Given the description of an element on the screen output the (x, y) to click on. 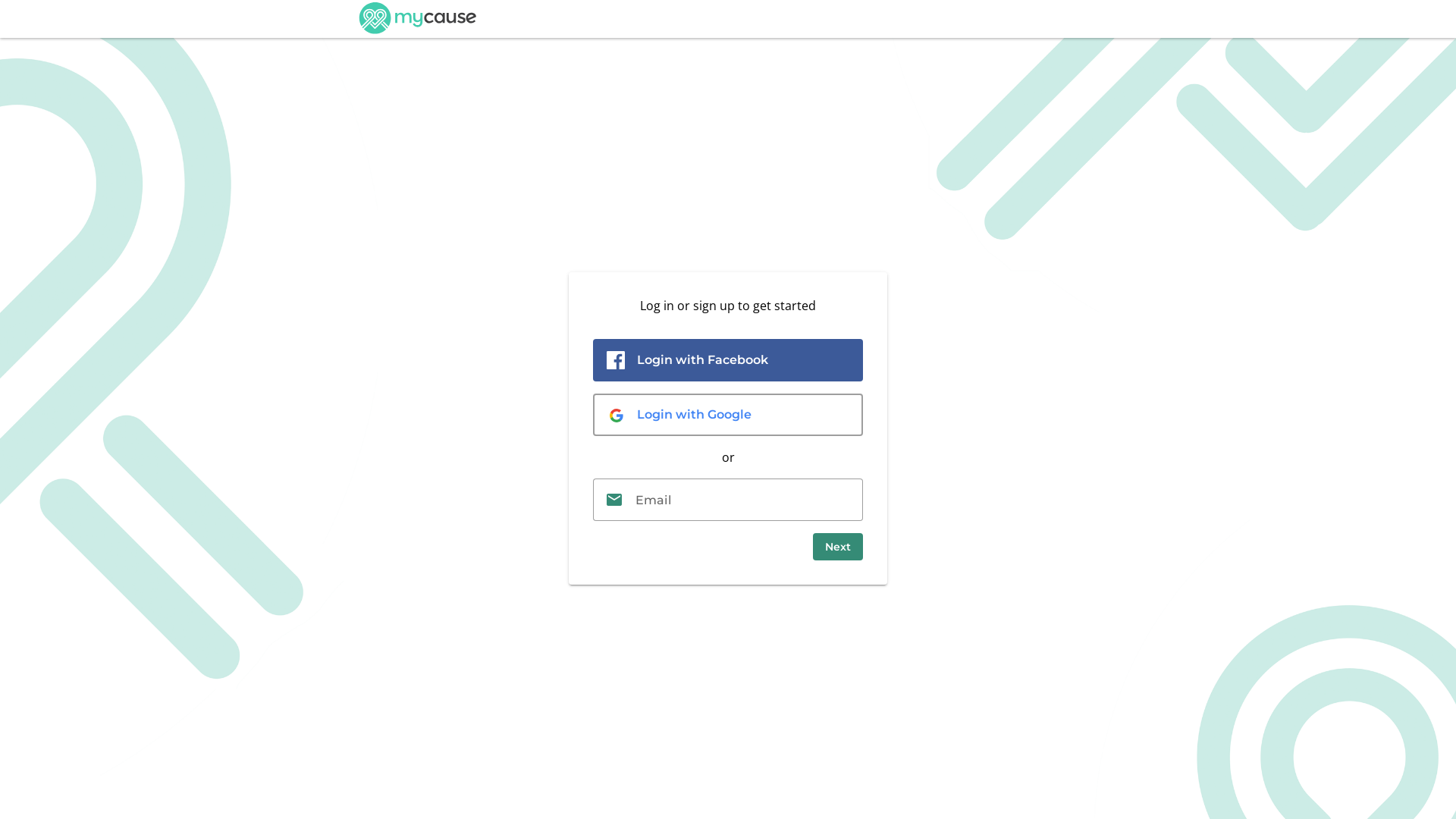
Login with Facebook Element type: text (727, 359)
Next Element type: text (837, 546)
Login with Google Element type: text (727, 414)
